Given the description of an element on the screen output the (x, y) to click on. 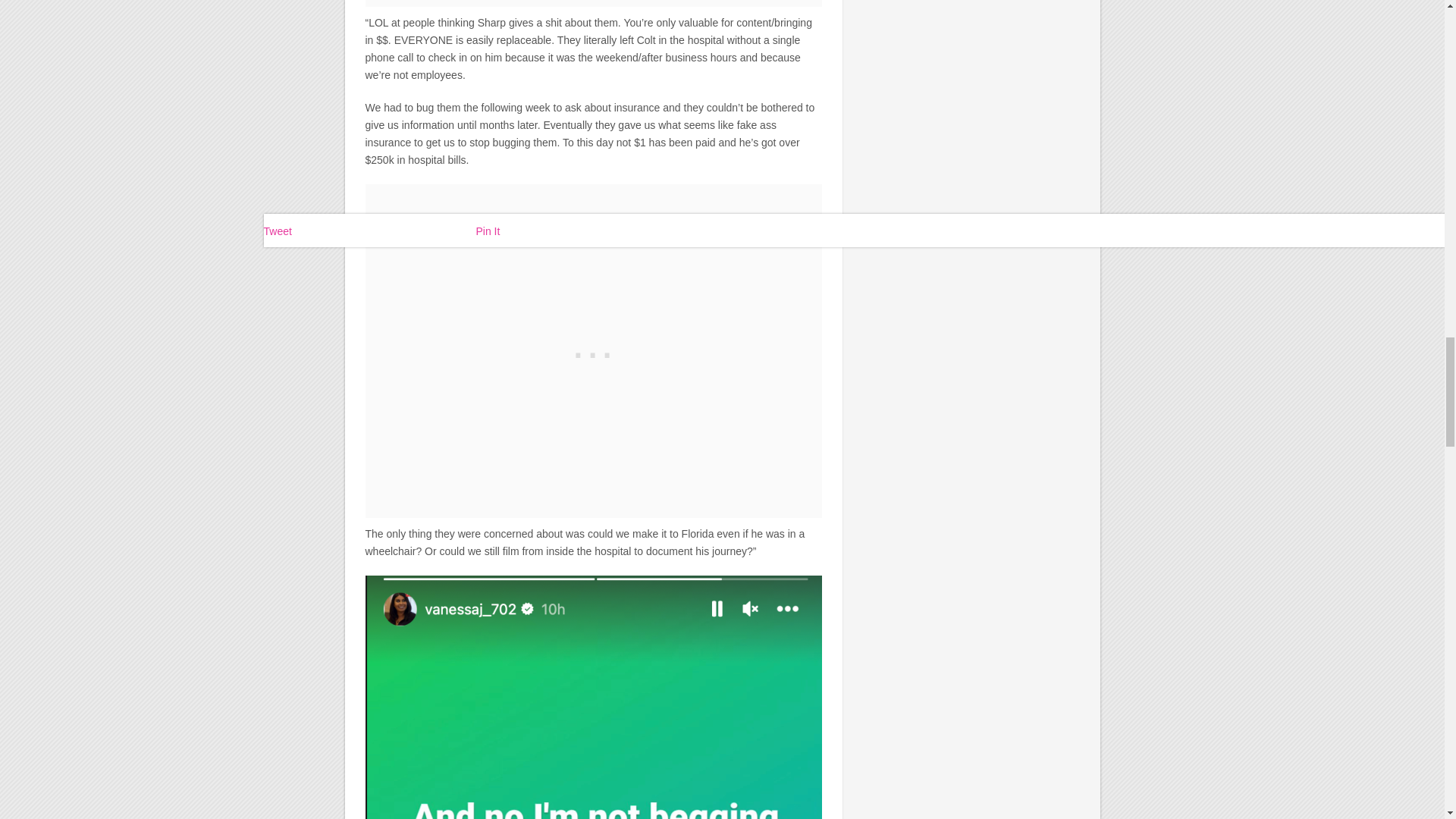
Screen Shot 2023-09-28 at 9.15.28 AM (593, 697)
